Given the description of an element on the screen output the (x, y) to click on. 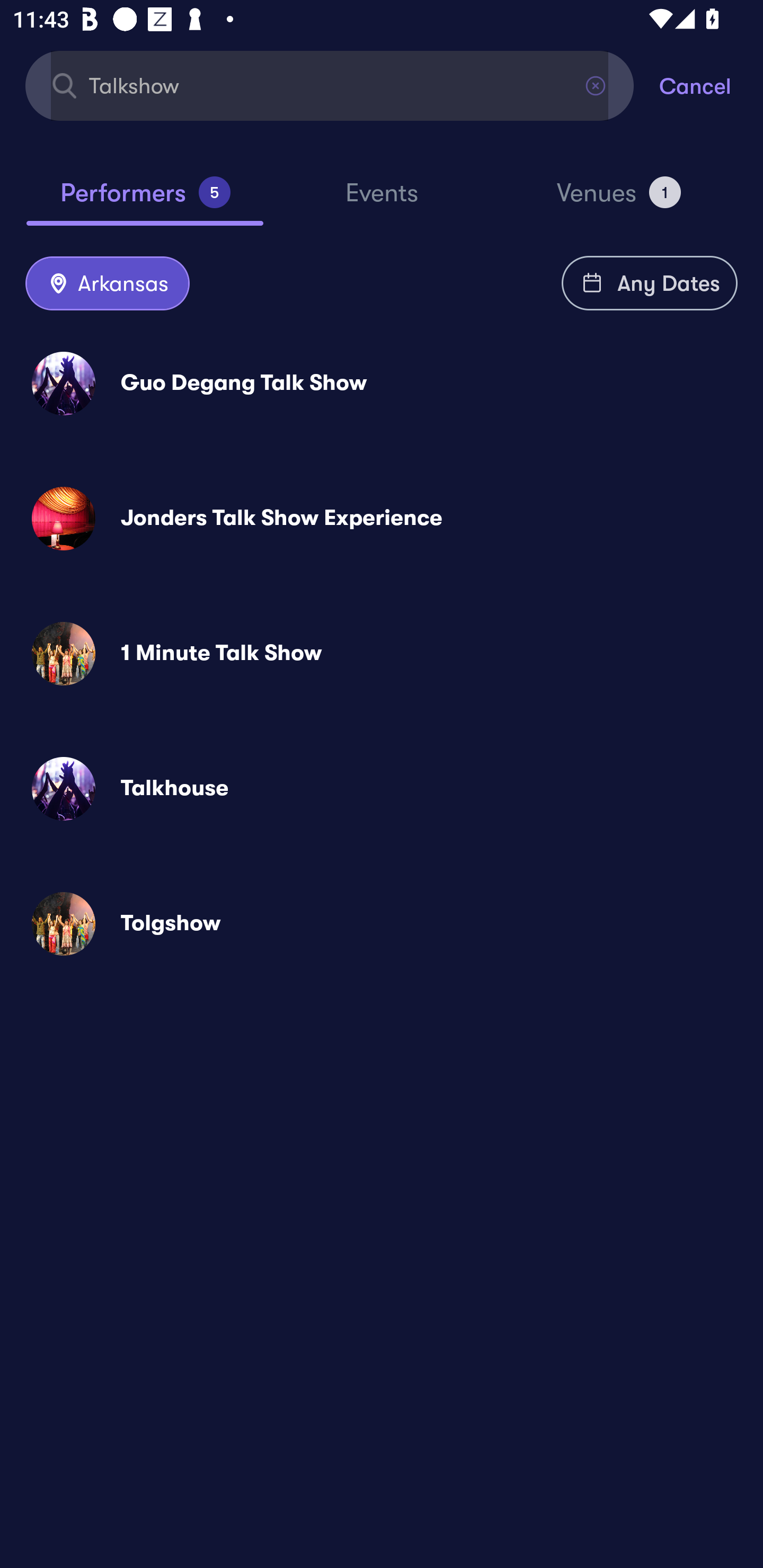
Talkshow Find (329, 85)
Talkshow Find (329, 85)
Cancel (711, 85)
Performers 5 (144, 200)
Venues 1 (618, 200)
Events (381, 201)
Any Dates (649, 282)
Arkansas (107, 283)
Guo Degang Talk Show (381, 383)
Jonders Talk Show Experience (381, 518)
1 Minute Talk Show (381, 652)
Talkhouse (381, 788)
Tolgshow (381, 924)
